Given the description of an element on the screen output the (x, y) to click on. 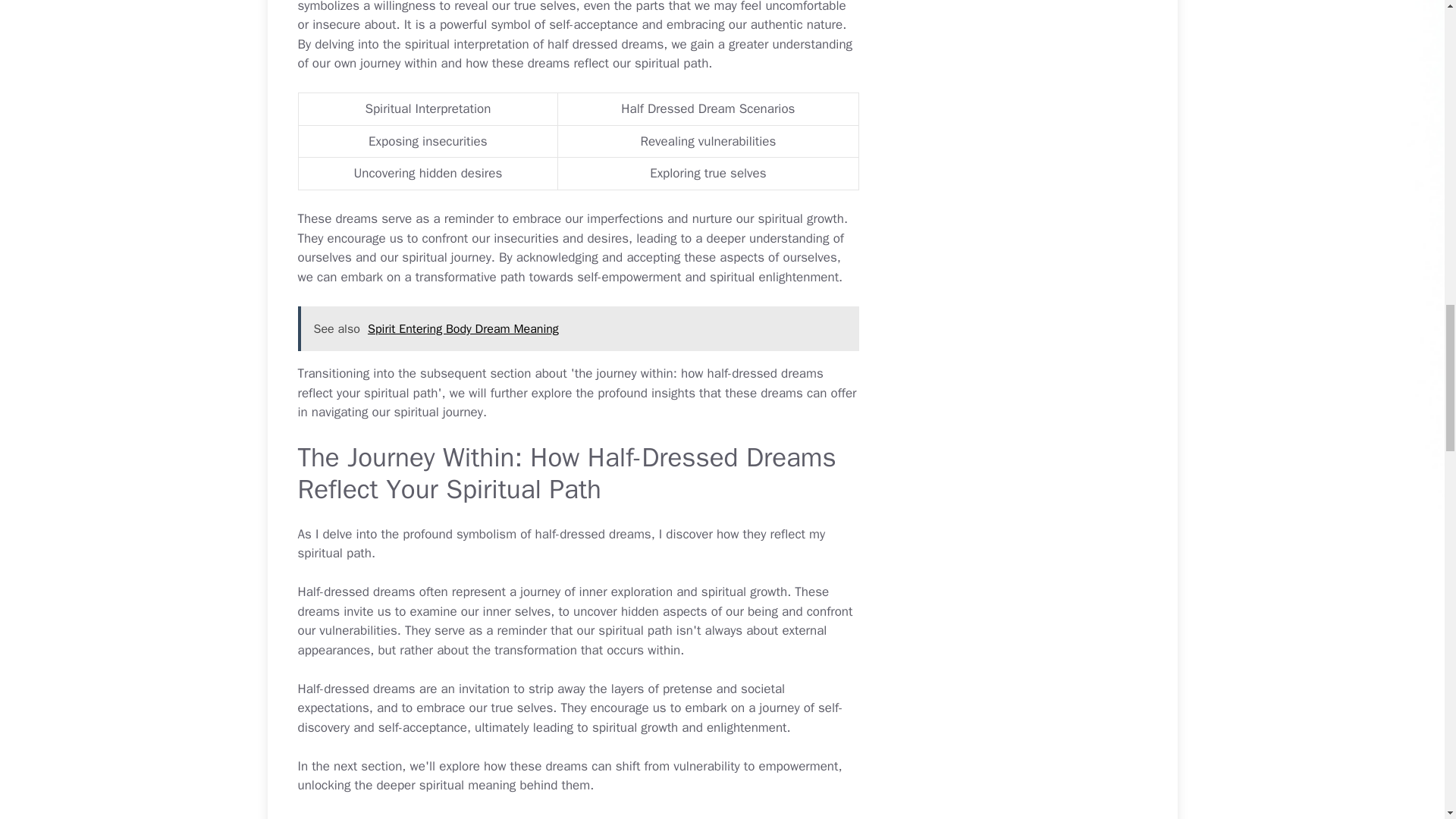
nature (824, 24)
See also  Spirit Entering Body Dream Meaning (578, 329)
nature (824, 24)
